Given the description of an element on the screen output the (x, y) to click on. 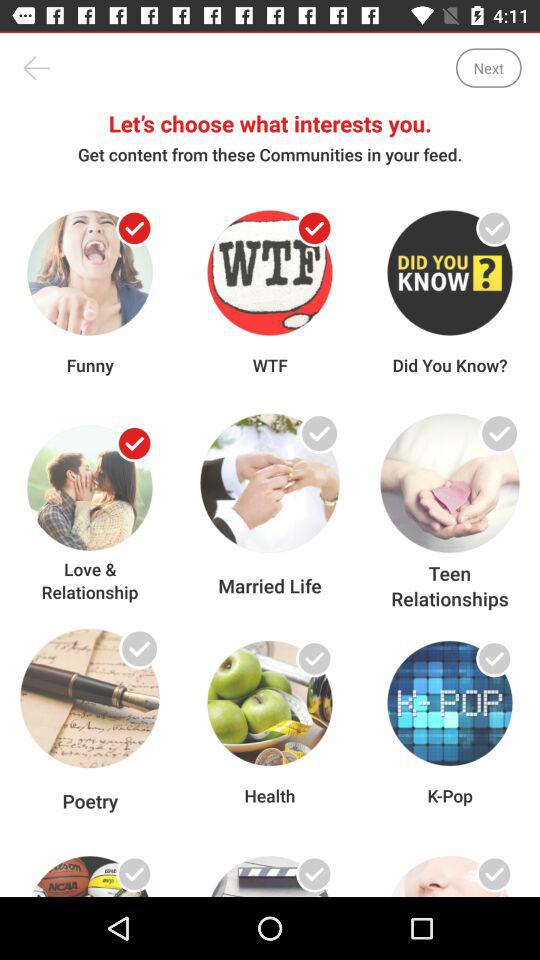
selection check box (314, 228)
